Given the description of an element on the screen output the (x, y) to click on. 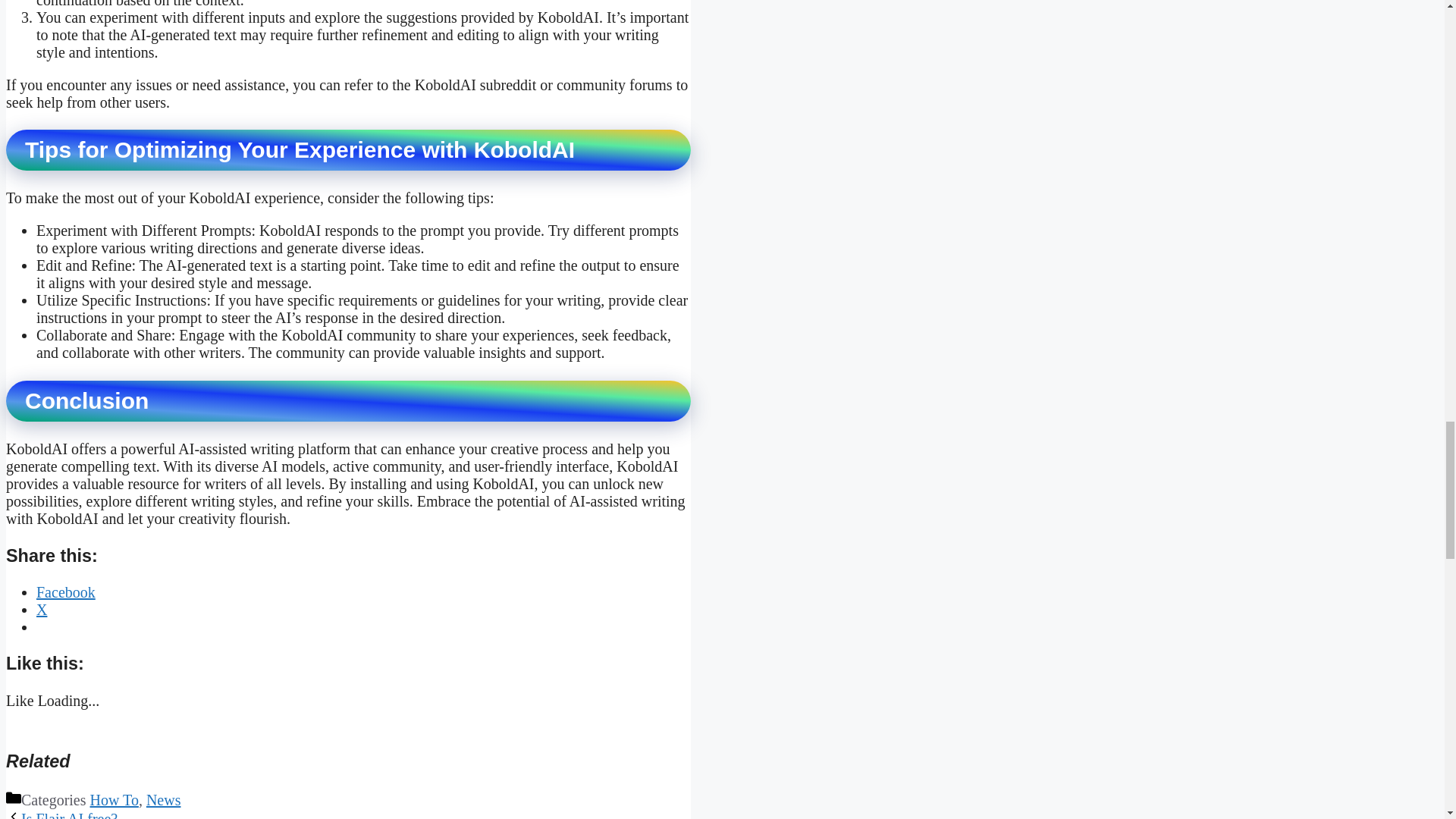
Facebook (66, 591)
News (163, 799)
Click to share on Facebook (66, 591)
How To (114, 799)
Is Flair AI free? (69, 814)
